Given the description of an element on the screen output the (x, y) to click on. 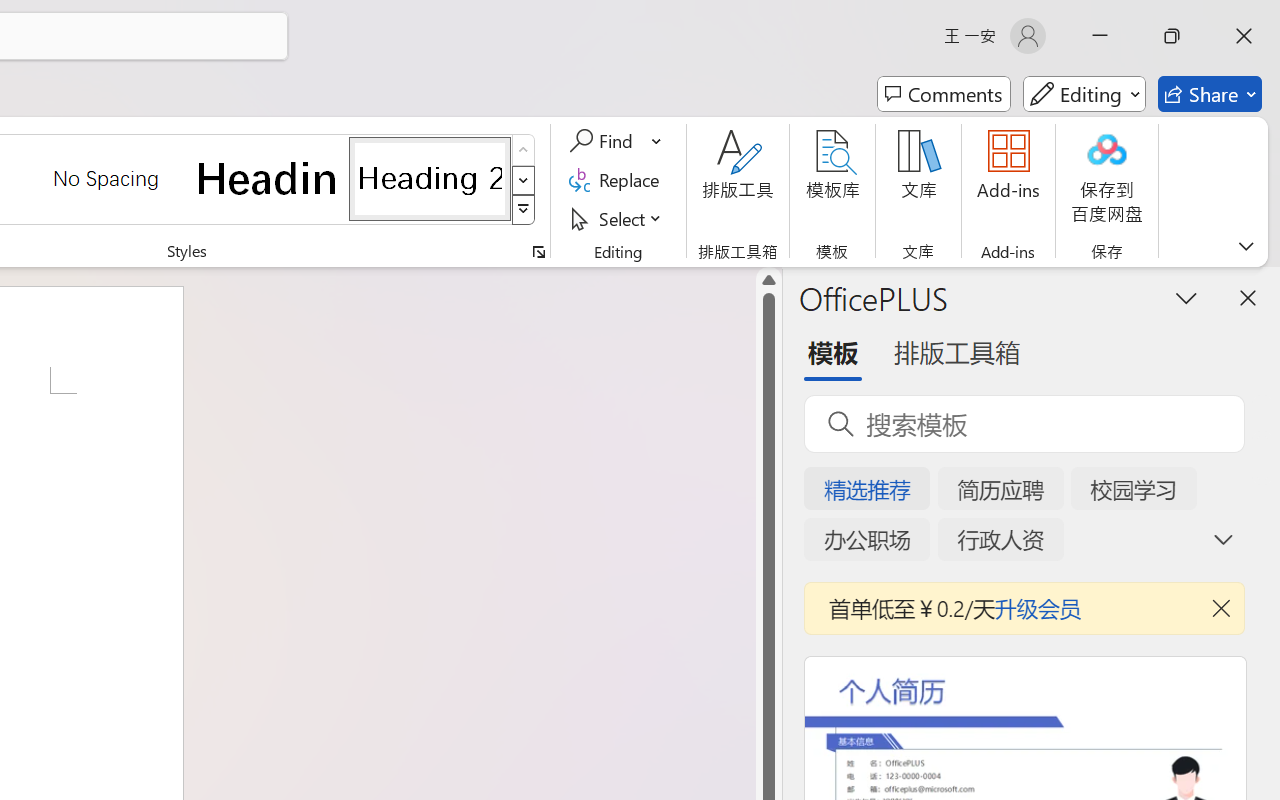
Heading 1 (267, 178)
Share (1210, 94)
Comments (943, 94)
Find (616, 141)
Select (618, 218)
Task Pane Options (1186, 297)
Class: NetUIImage (523, 210)
Styles (523, 209)
